Given the description of an element on the screen output the (x, y) to click on. 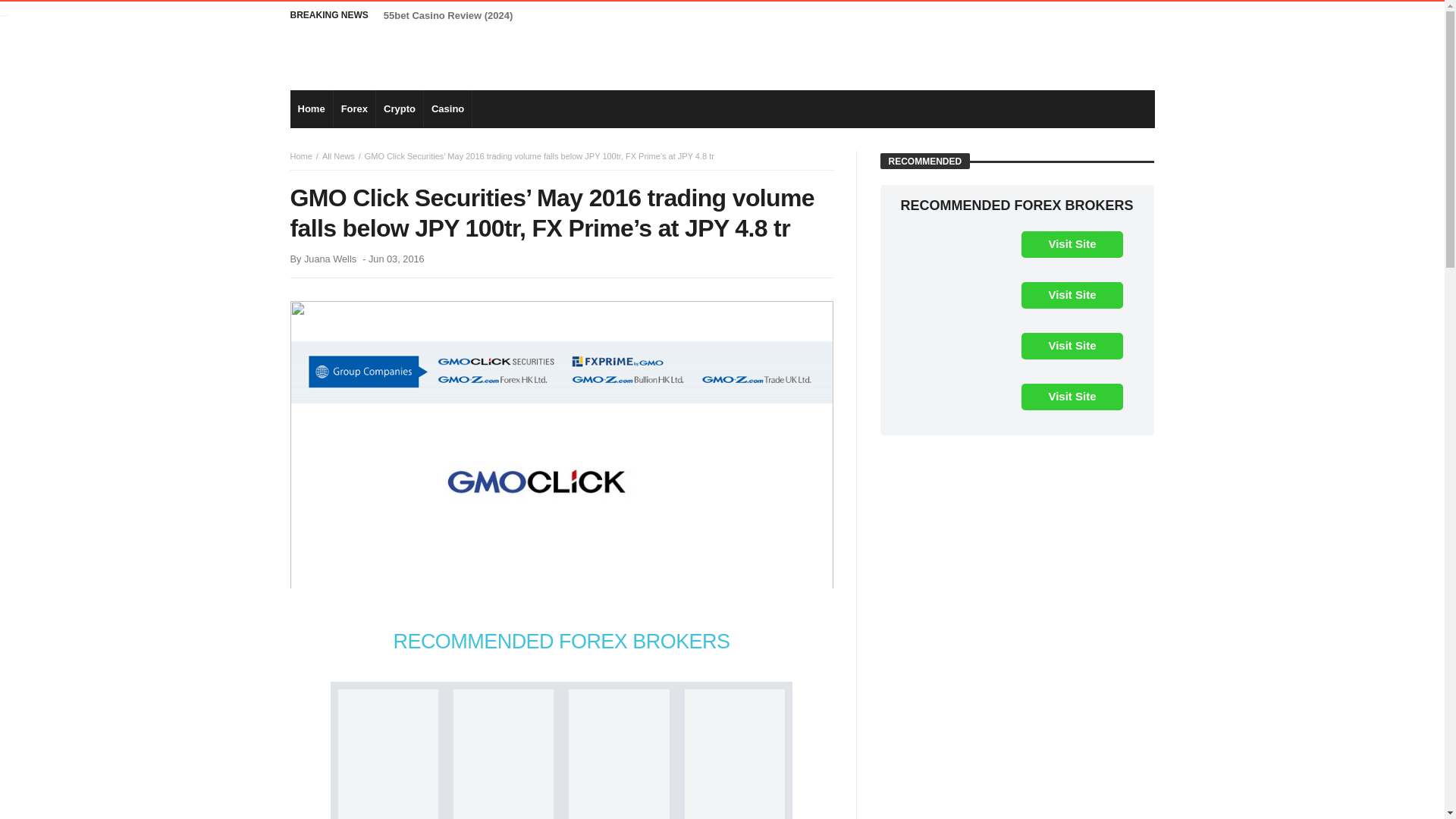
All News (338, 155)
Home (300, 155)
Crypto (399, 108)
Forex (354, 108)
Casino (447, 108)
Home (311, 108)
